Given the description of an element on the screen output the (x, y) to click on. 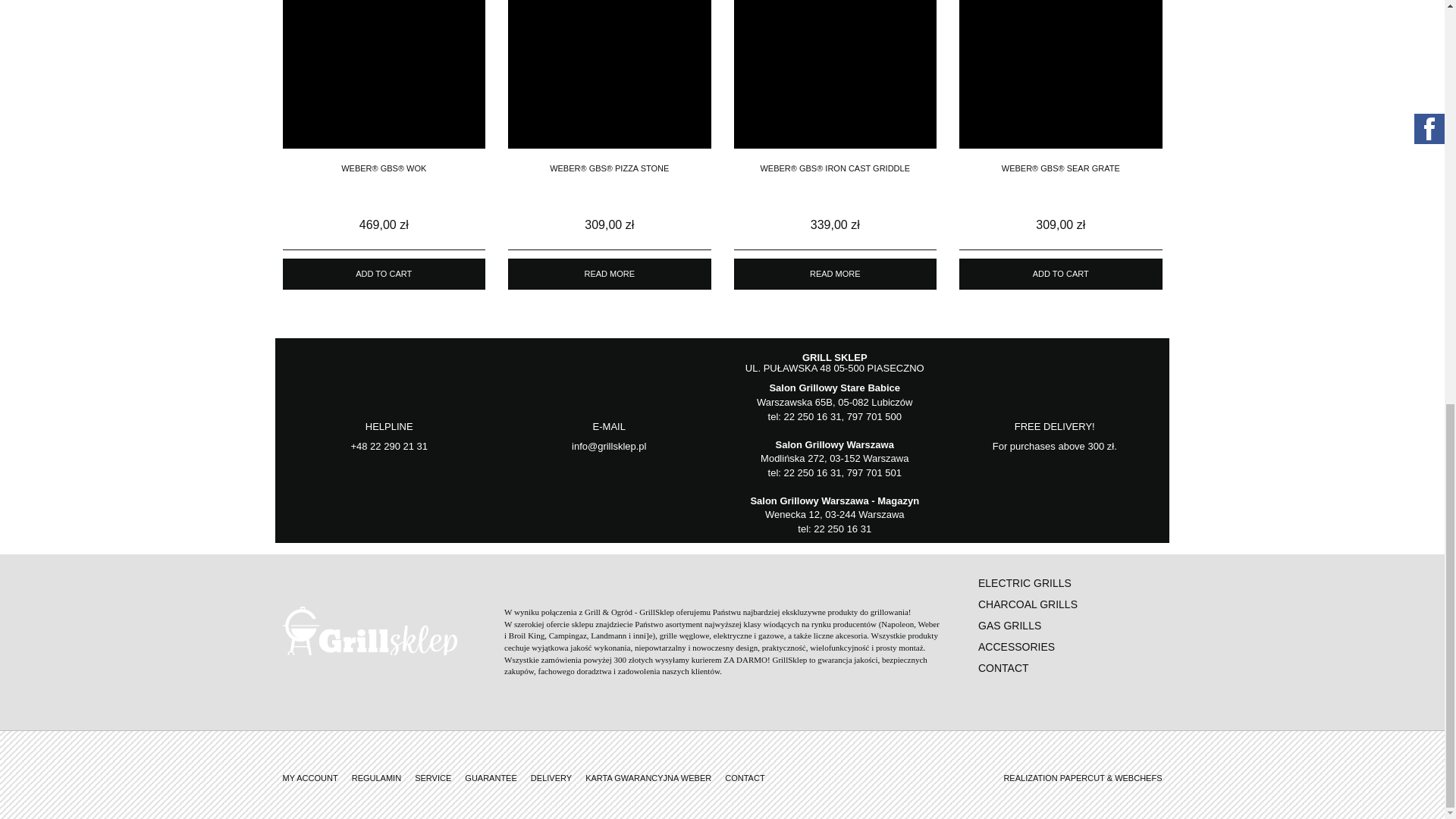
READ MORE (835, 273)
READ MORE (609, 273)
CHARCOAL GRILLS (1027, 604)
ELECTRIC GRILLS (1024, 582)
ADD TO CART (383, 273)
ADD TO CART (1060, 273)
